Given the description of an element on the screen output the (x, y) to click on. 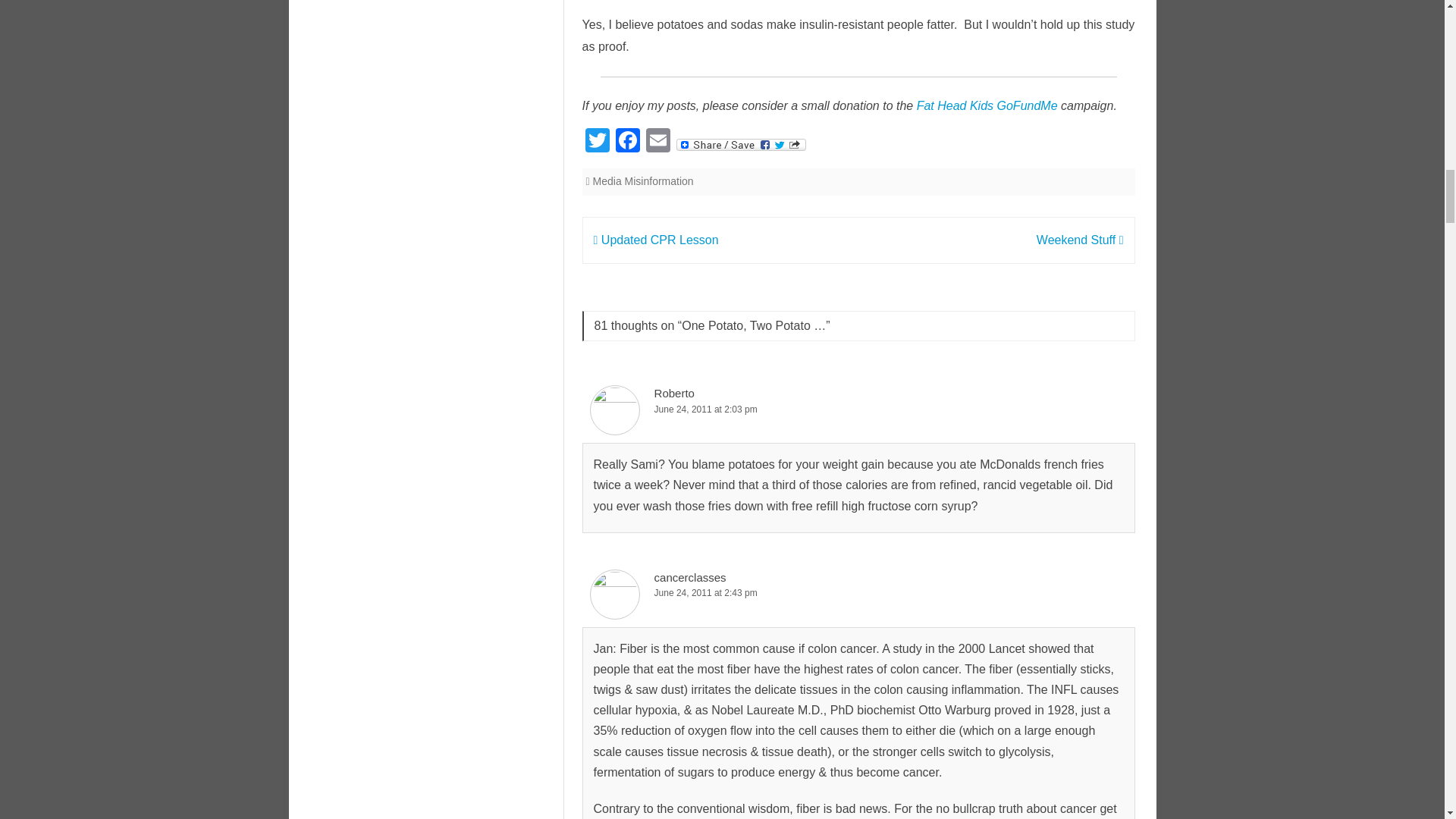
Facebook (627, 141)
Twitter (597, 141)
Email (657, 141)
Fat Head Kids GoFundMe (987, 105)
